Given the description of an element on the screen output the (x, y) to click on. 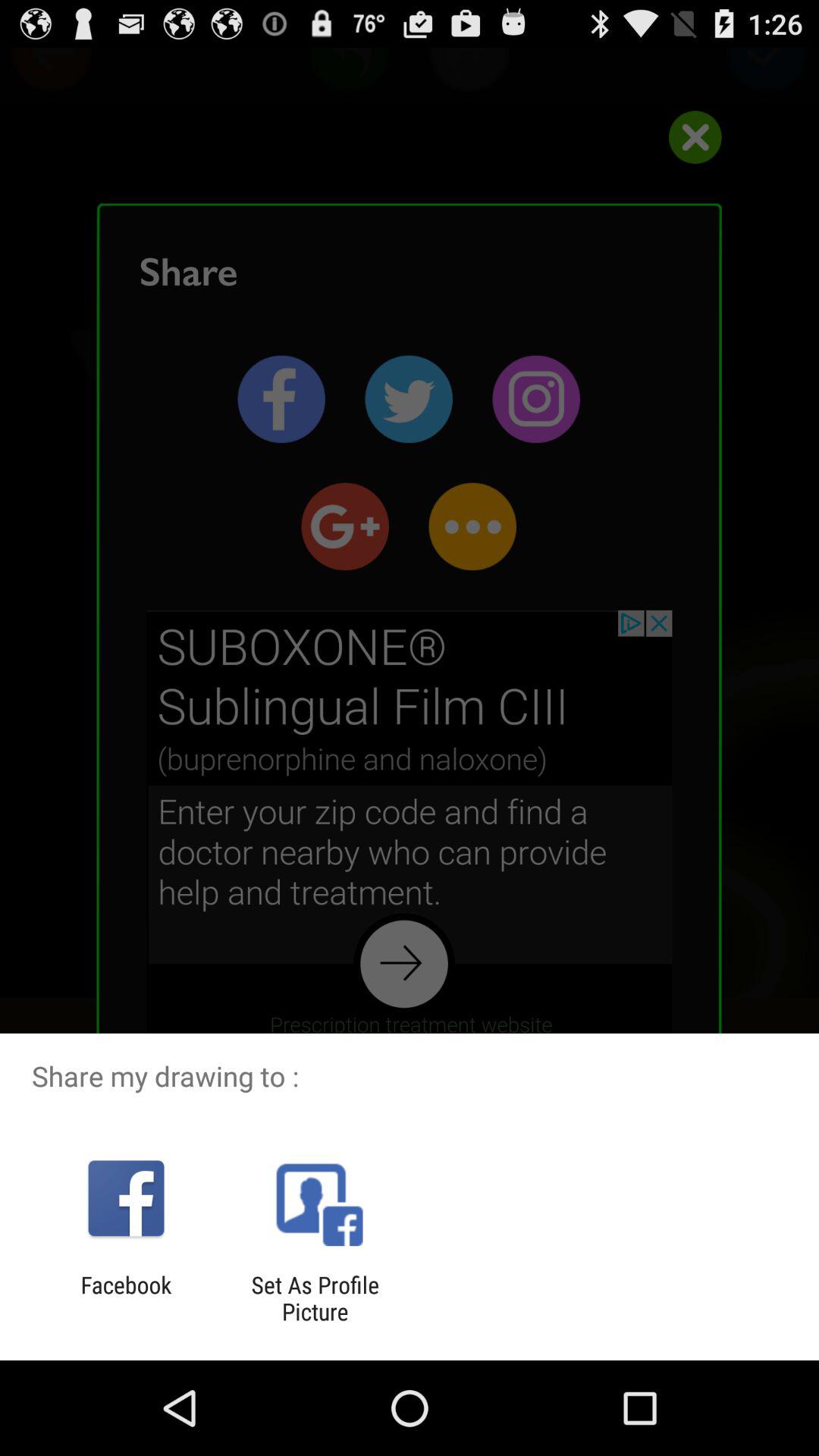
press the icon to the left of set as profile app (125, 1298)
